Given the description of an element on the screen output the (x, y) to click on. 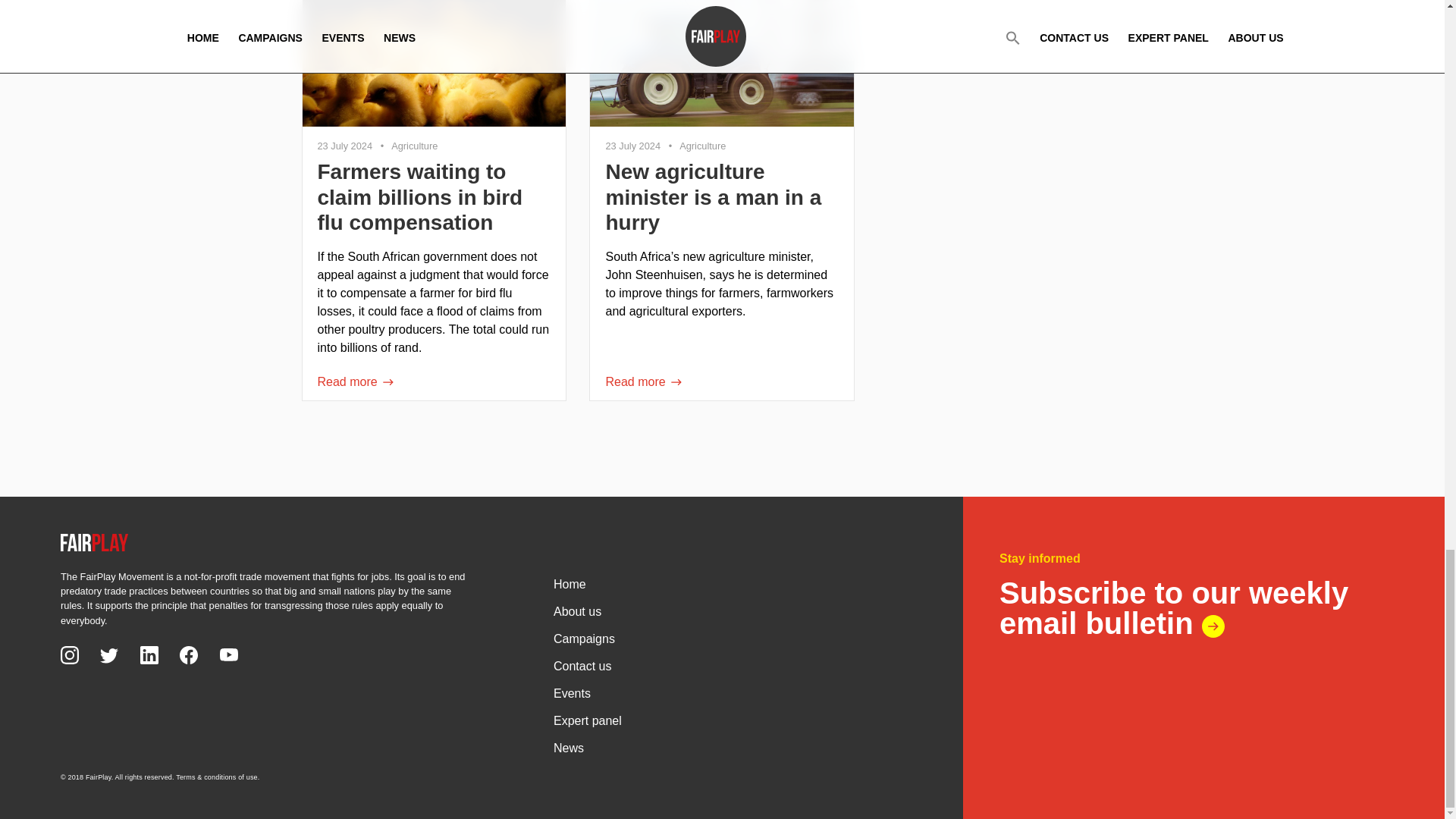
Home (733, 583)
About us (733, 610)
Campaigns (733, 637)
